Given the description of an element on the screen output the (x, y) to click on. 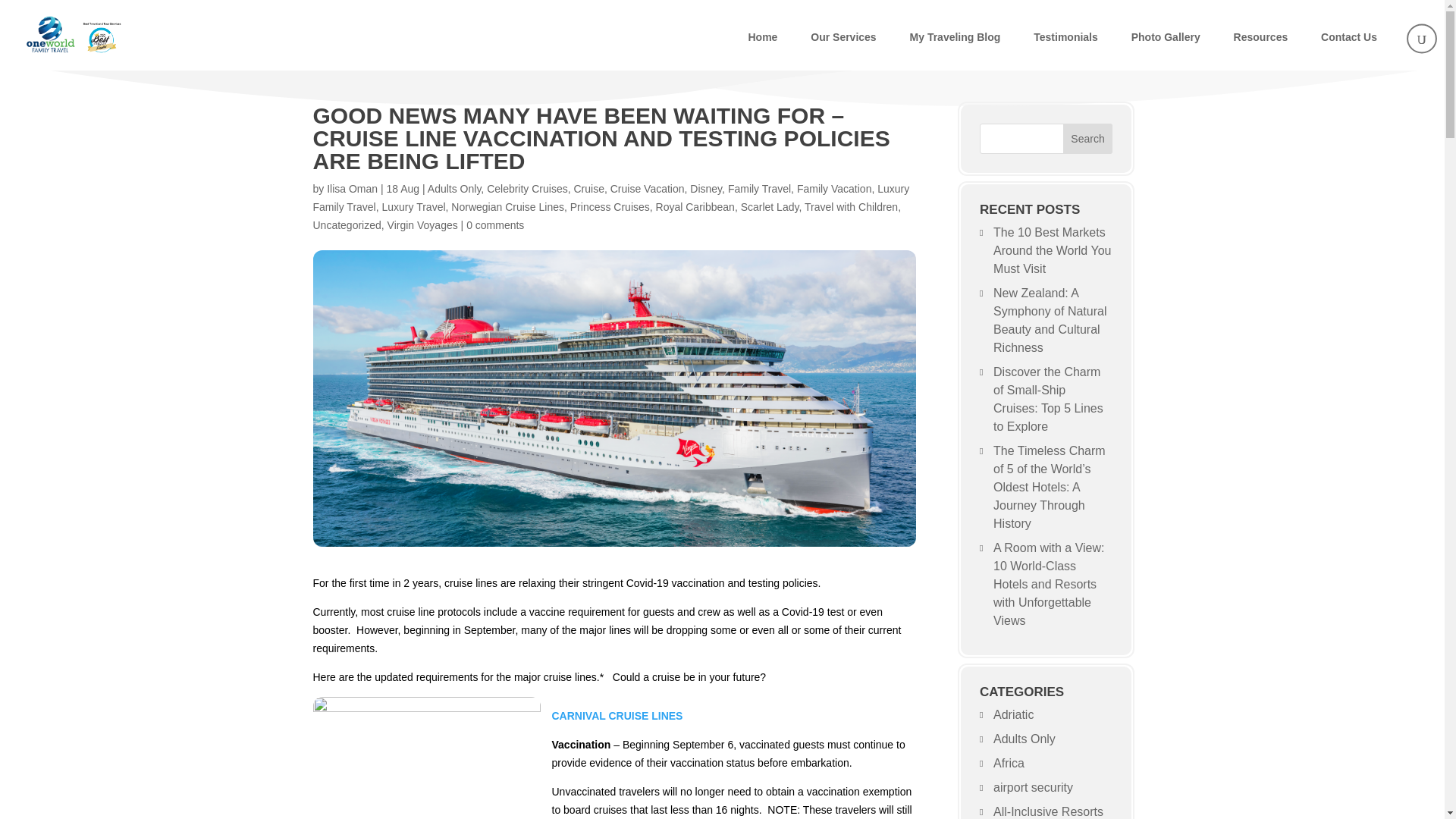
Luxury Family Travel (610, 197)
Luxury Travel (413, 206)
Cruise (588, 188)
Posts by Ilisa Oman (351, 188)
Adults Only (454, 188)
Travel with Children (851, 206)
My Traveling Blog (954, 37)
Resources (1261, 37)
Ilisa Oman (351, 188)
Contact Us (1348, 37)
